Given the description of an element on the screen output the (x, y) to click on. 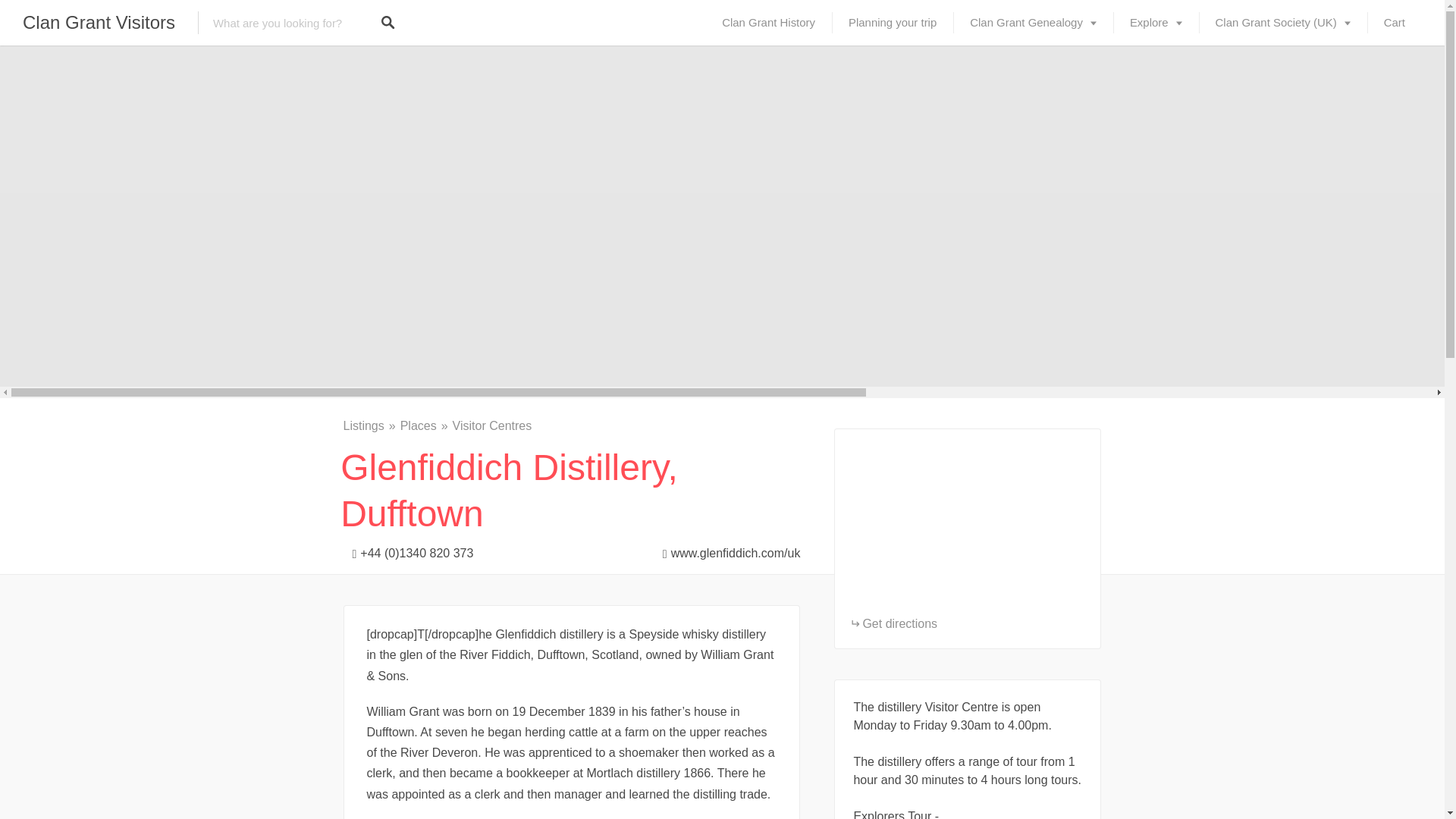
Clan Grant Visitors (98, 22)
Clan Grant Genealogy (1033, 22)
Planning your trip (892, 22)
Clan Grant History (767, 22)
Explore (1155, 22)
